Given the description of an element on the screen output the (x, y) to click on. 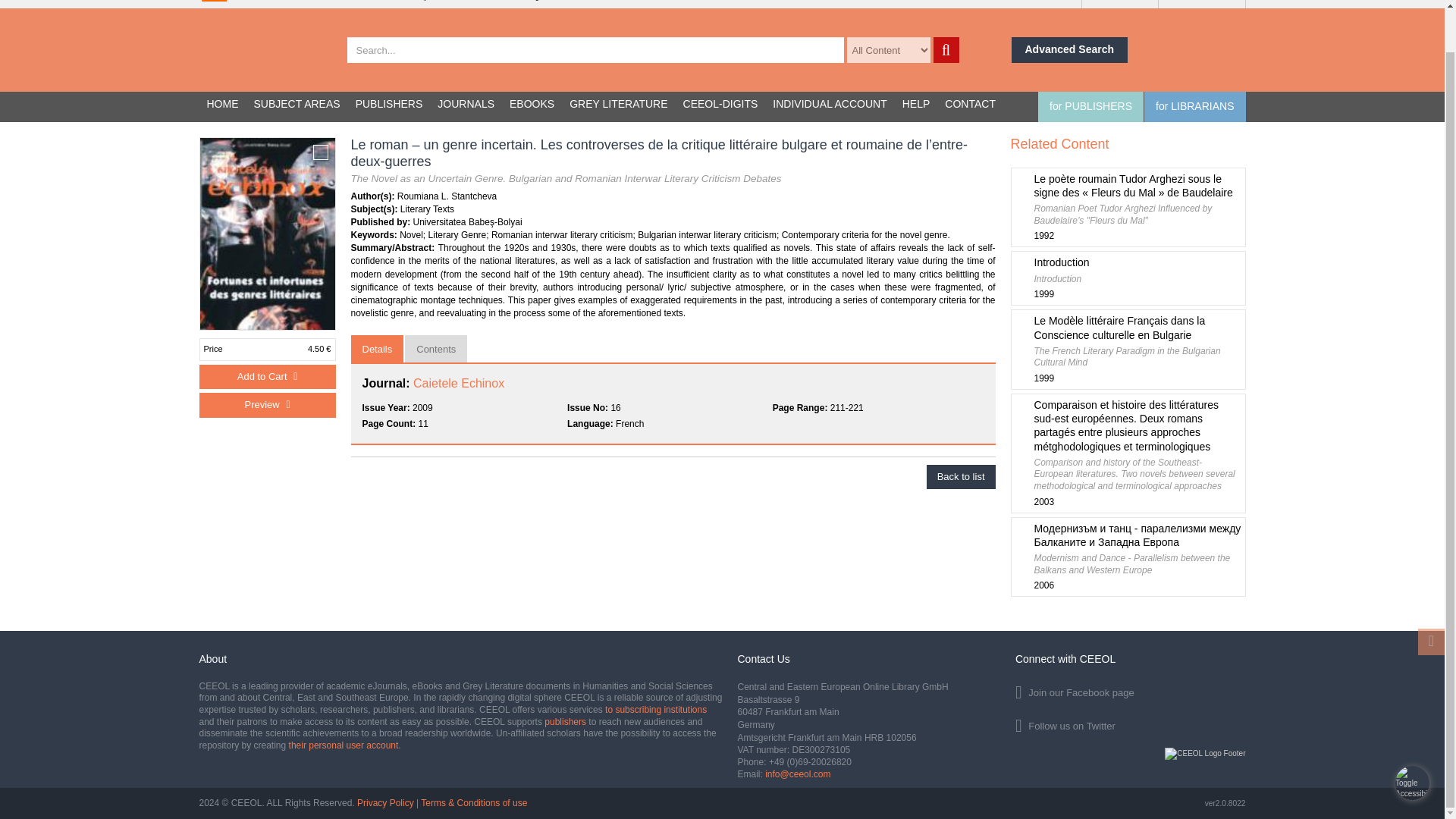
Caietele Echinox (458, 382)
Back to list (960, 477)
Preview (266, 405)
publishers (565, 721)
CONTACT (970, 104)
Search (1127, 277)
REGISTER (945, 49)
Join our Facebook page (1201, 4)
Journal Article (1130, 689)
